Given the description of an element on the screen output the (x, y) to click on. 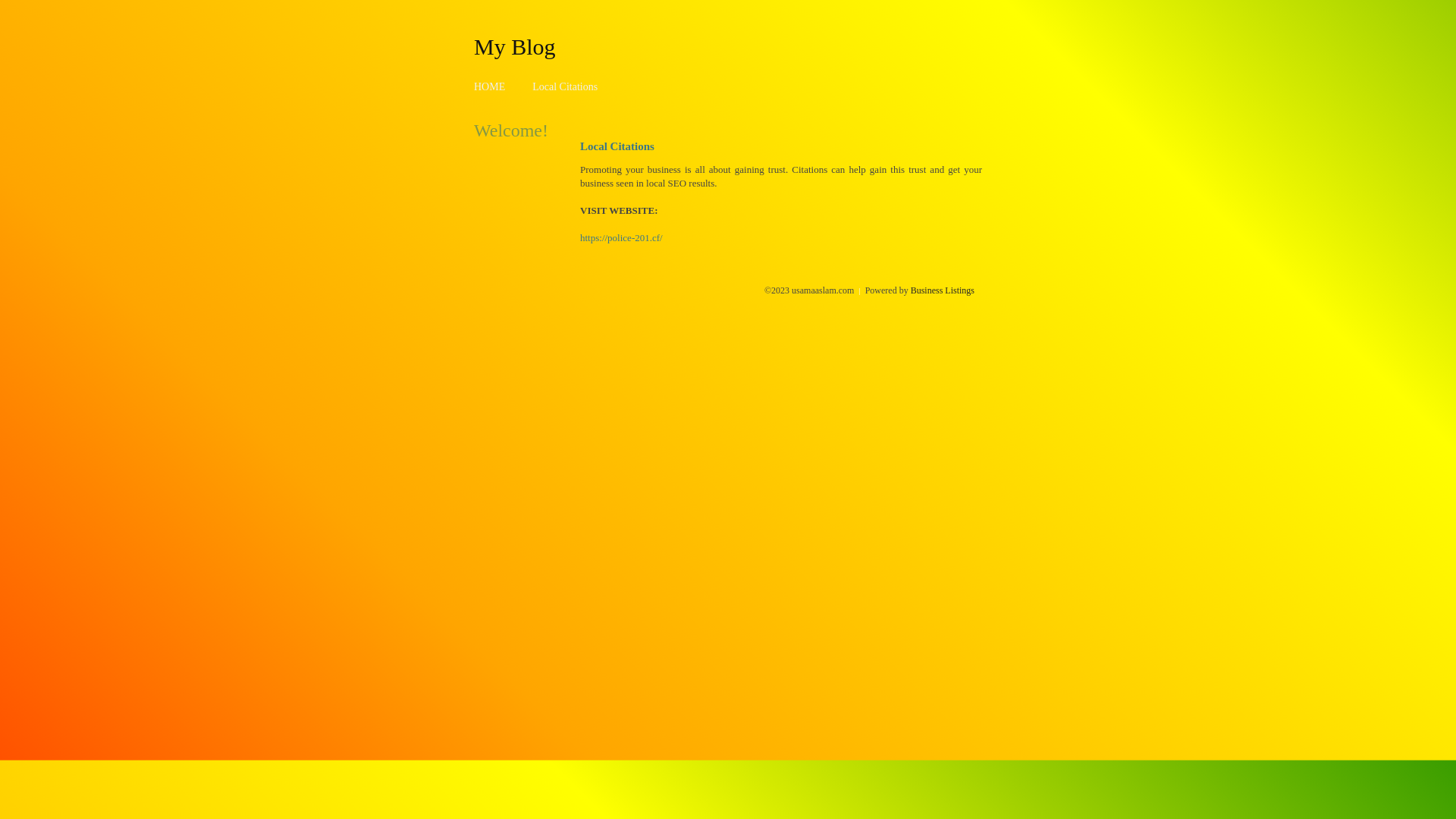
https://police-201.cf/ Element type: text (621, 237)
Business Listings Element type: text (942, 290)
Local Citations Element type: text (564, 86)
HOME Element type: text (489, 86)
My Blog Element type: text (514, 46)
